Given the description of an element on the screen output the (x, y) to click on. 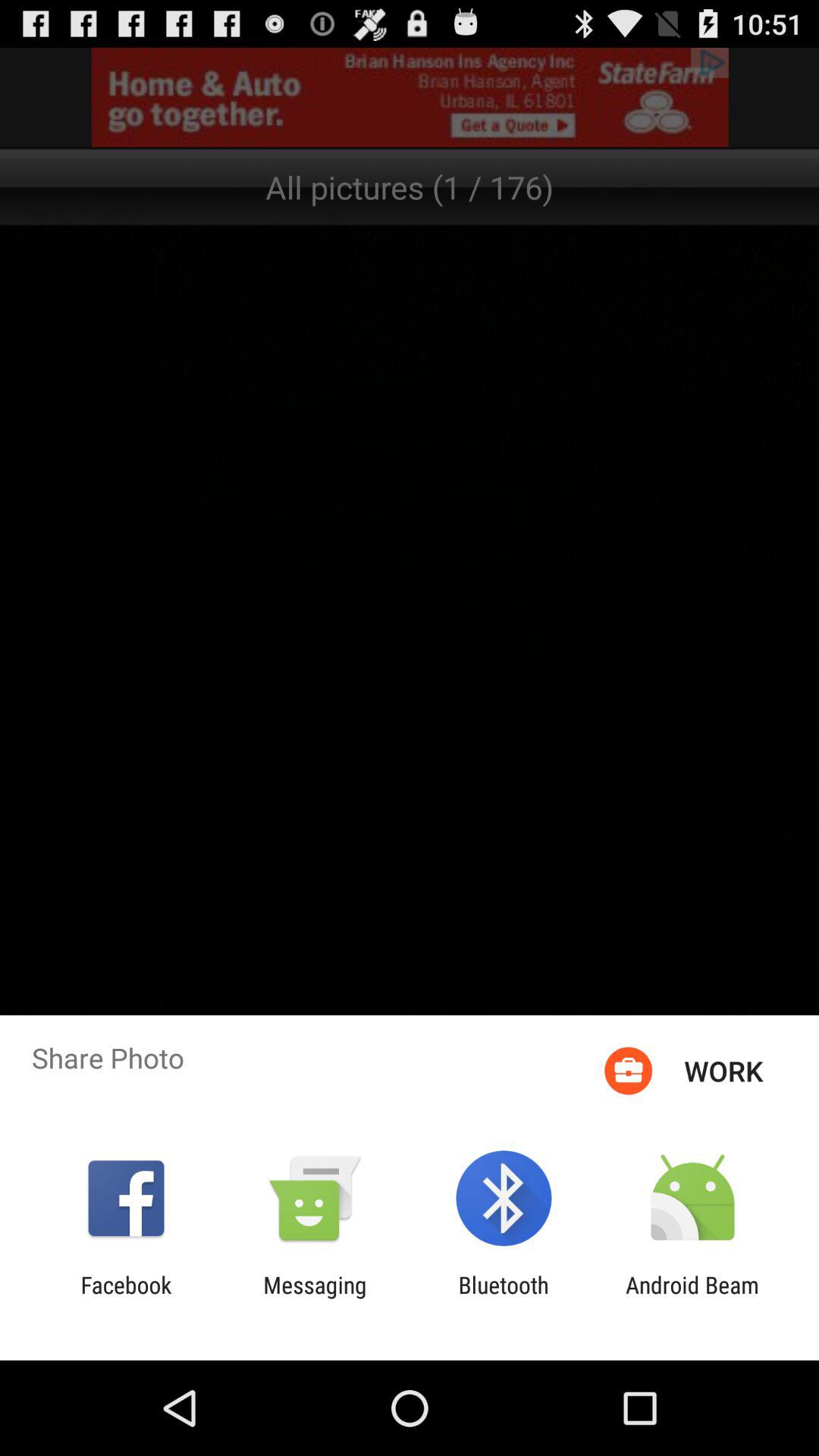
click the messaging app (314, 1298)
